Given the description of an element on the screen output the (x, y) to click on. 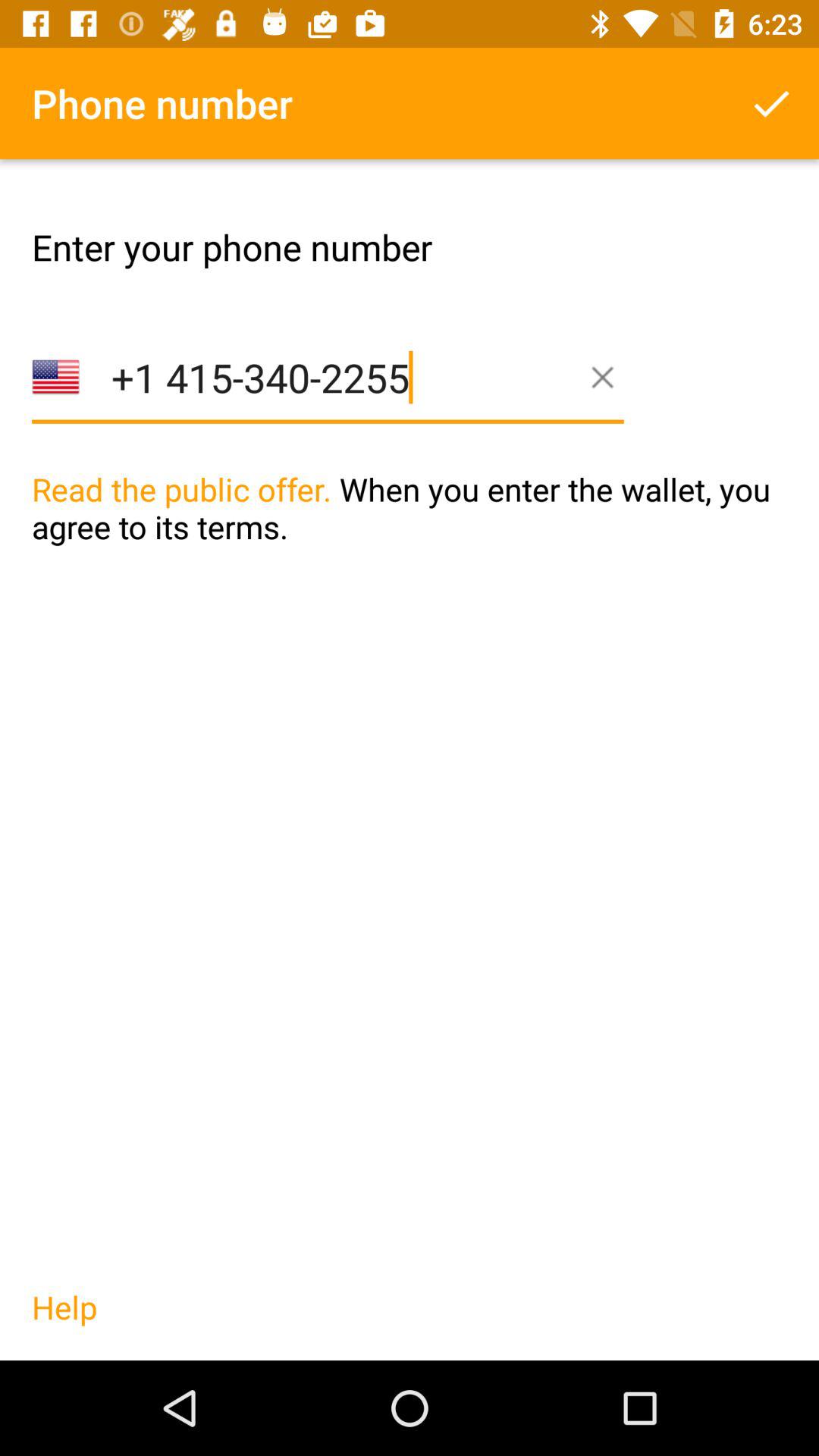
launch the icon to the right of phone number icon (771, 103)
